Given the description of an element on the screen output the (x, y) to click on. 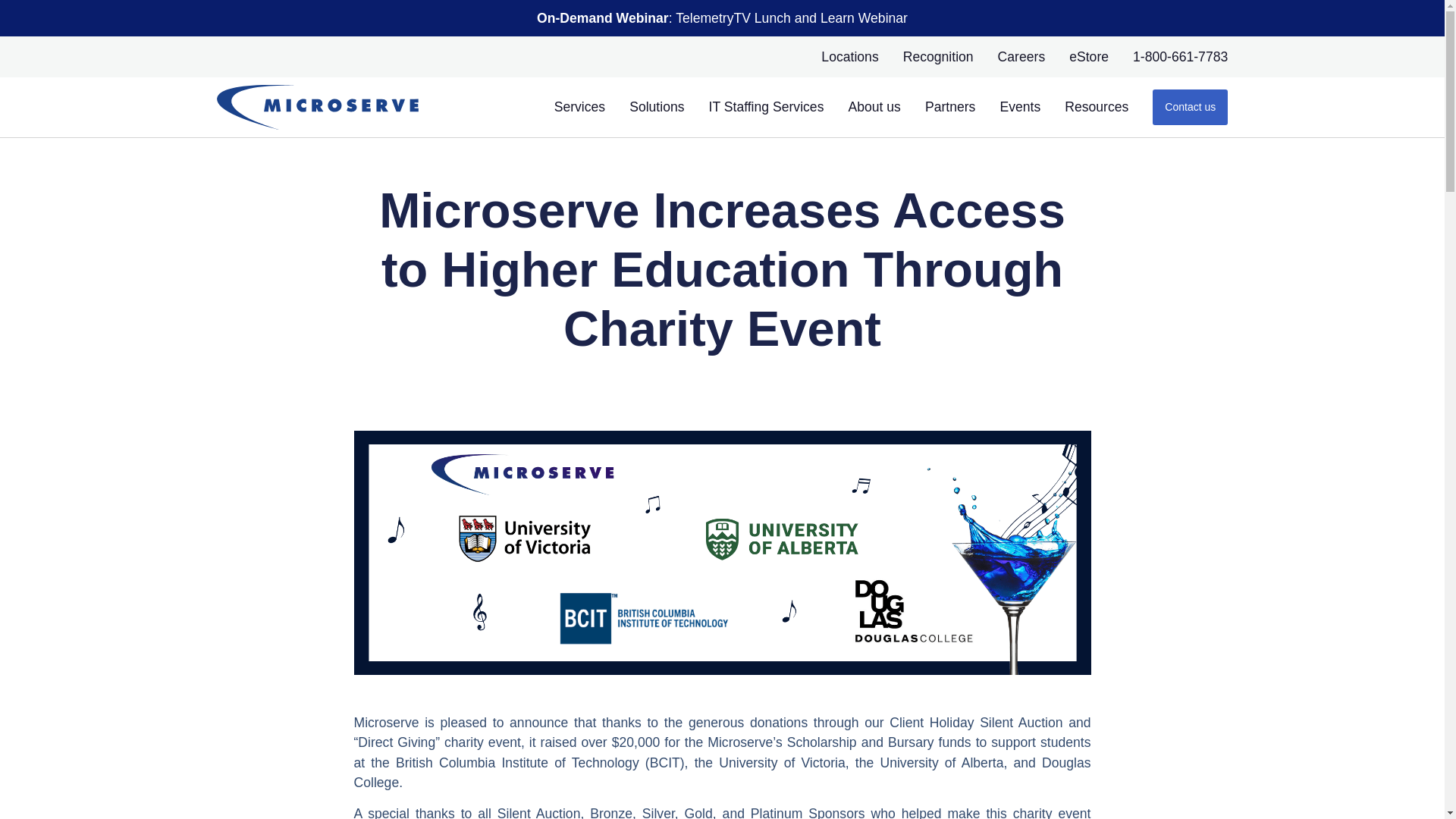
Services (579, 107)
Locations (849, 56)
Solutions (656, 107)
Careers (1021, 56)
About us (873, 107)
eStore (1088, 56)
1-800-661-7783 (1179, 56)
IT Staffing Services (766, 107)
Recognition (938, 56)
TelemetryTV Lunch and Learn Webinar (791, 17)
